Given the description of an element on the screen output the (x, y) to click on. 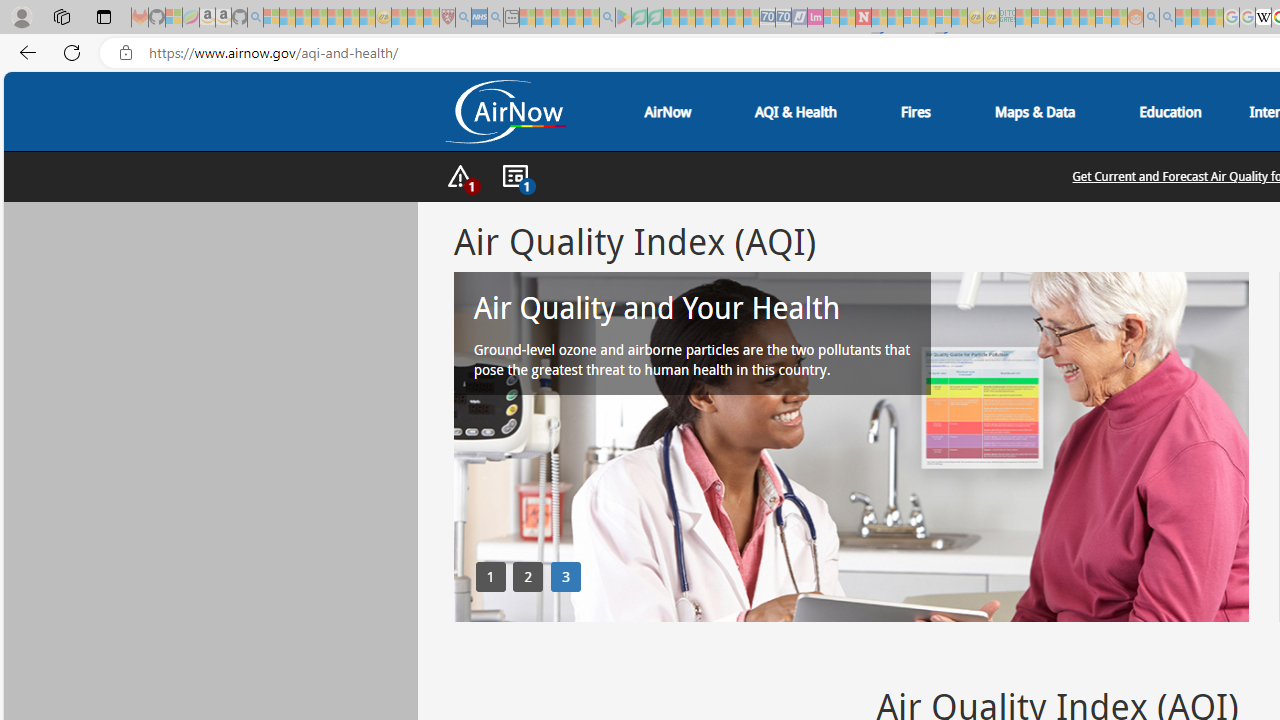
MSNBC - MSN - Sleeping (1023, 17)
3 (565, 575)
